Given the description of an element on the screen output the (x, y) to click on. 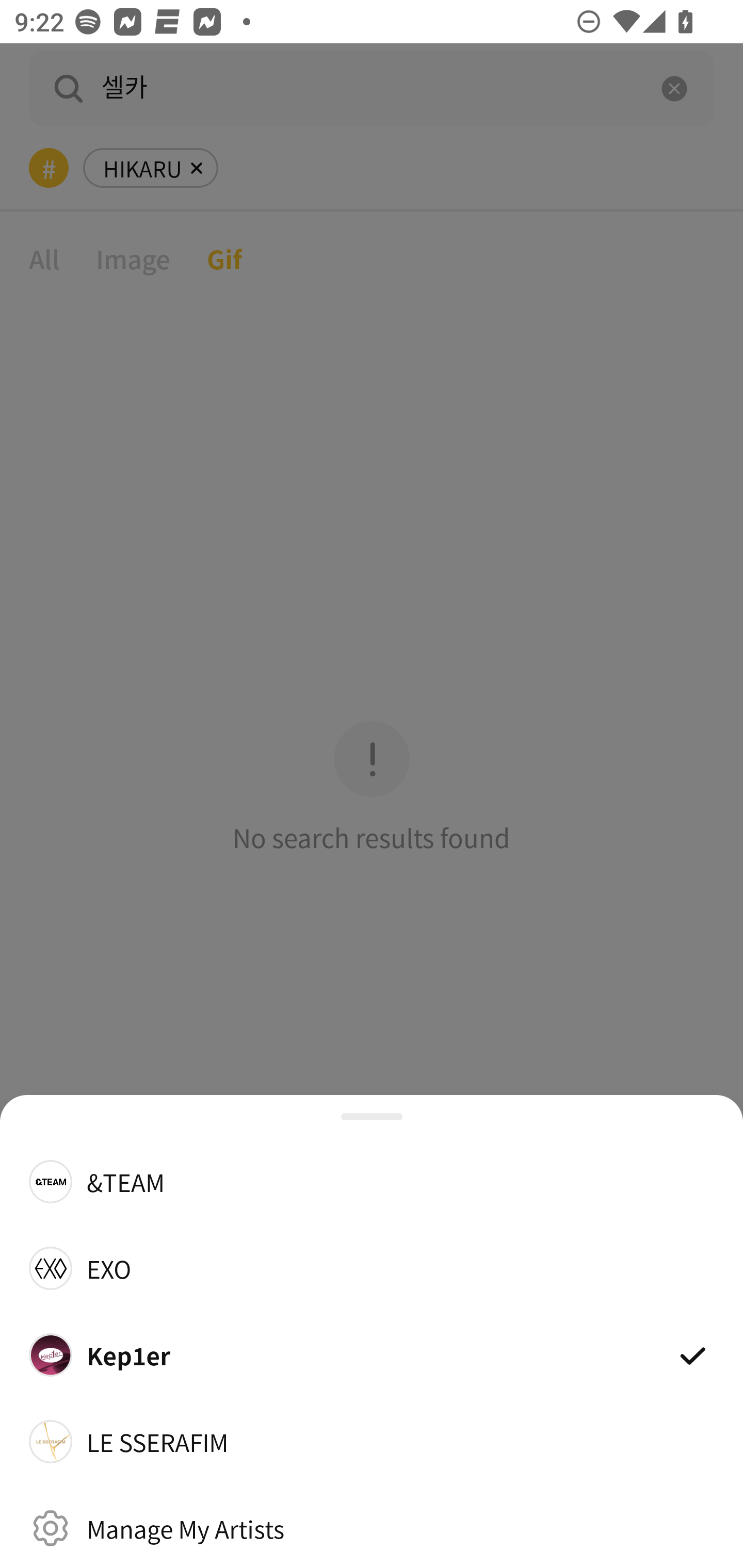
&TEAM (371, 1181)
EXO (371, 1268)
Kep1er (371, 1354)
LE SSERAFIM (371, 1441)
Manage My Artists (371, 1527)
